Given the description of an element on the screen output the (x, y) to click on. 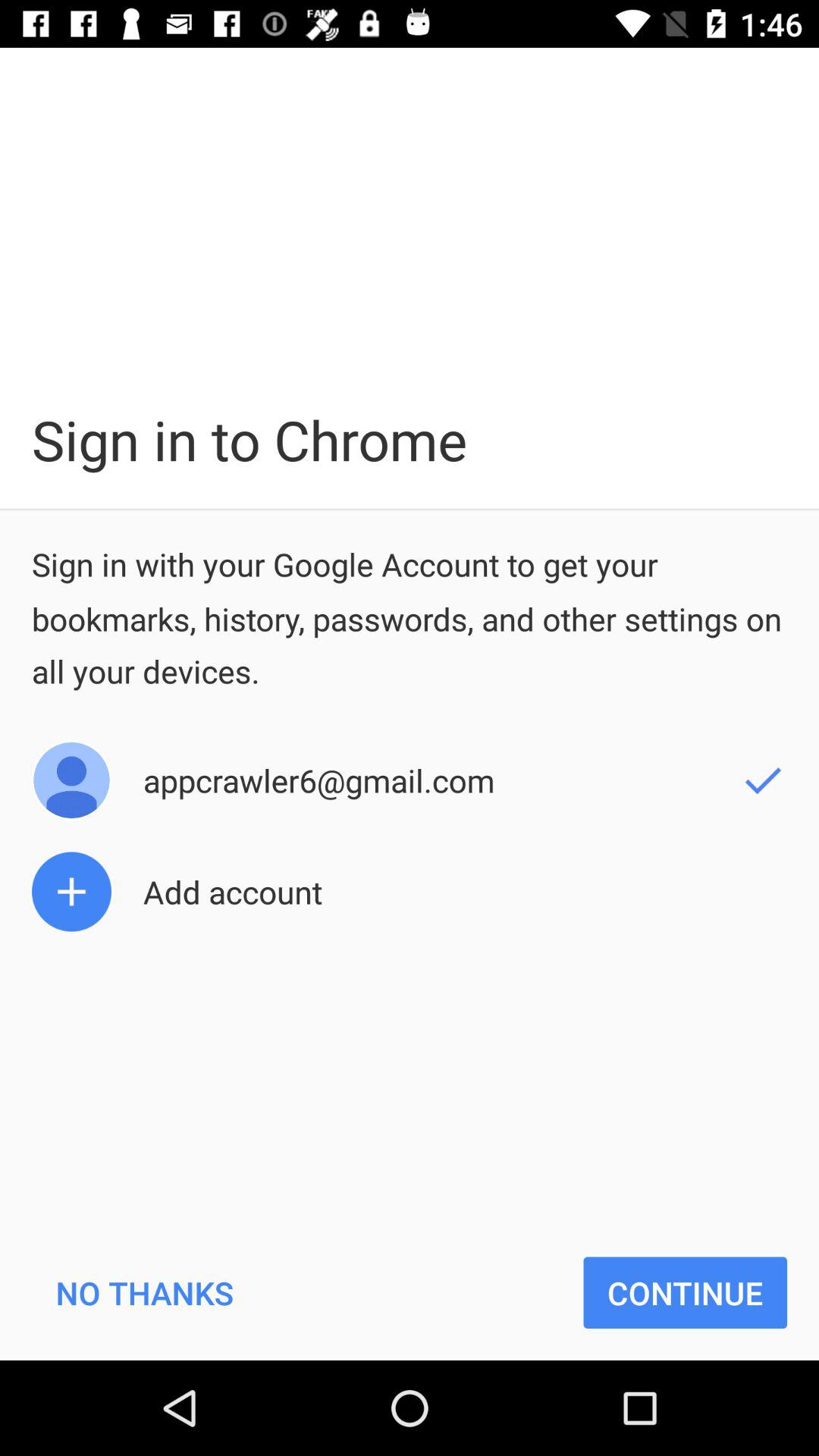
choose the item next to no thanks item (685, 1292)
